Given the description of an element on the screen output the (x, y) to click on. 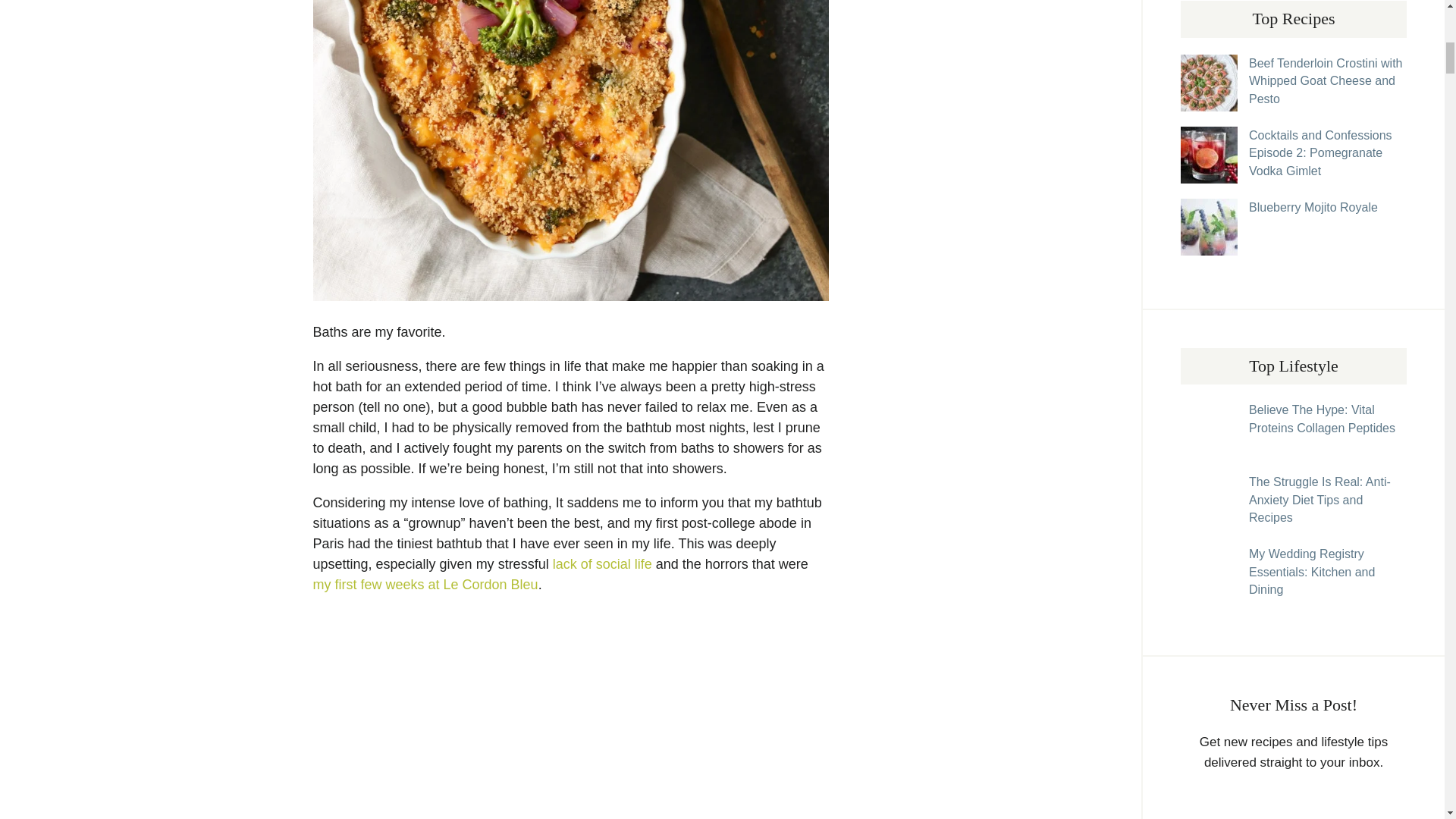
my first few weeks at Le Cordon Bleu (425, 584)
lack of social life (602, 563)
